Given the description of an element on the screen output the (x, y) to click on. 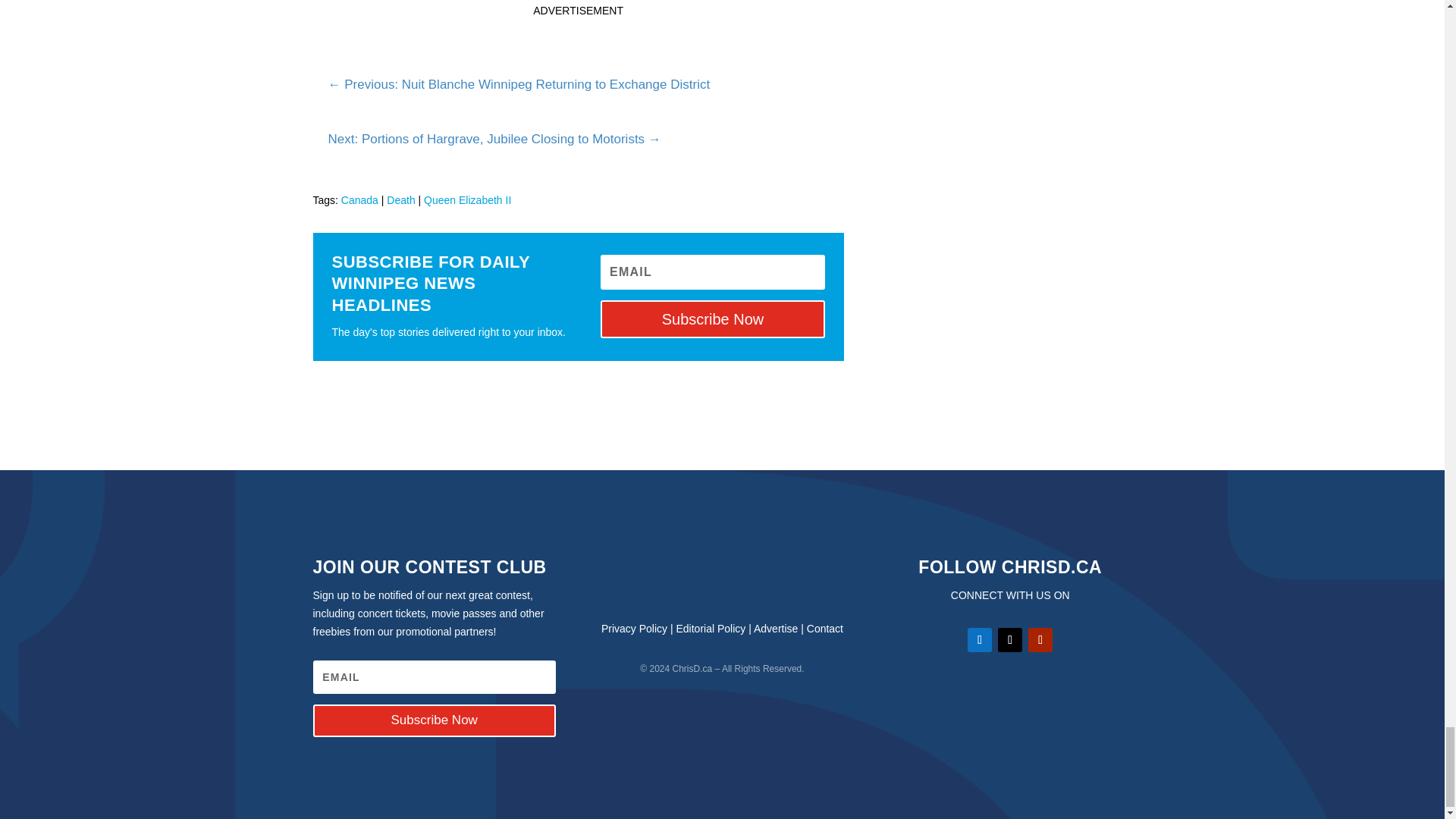
chrisd-logo-footer-300x92 (722, 576)
